Given the description of an element on the screen output the (x, y) to click on. 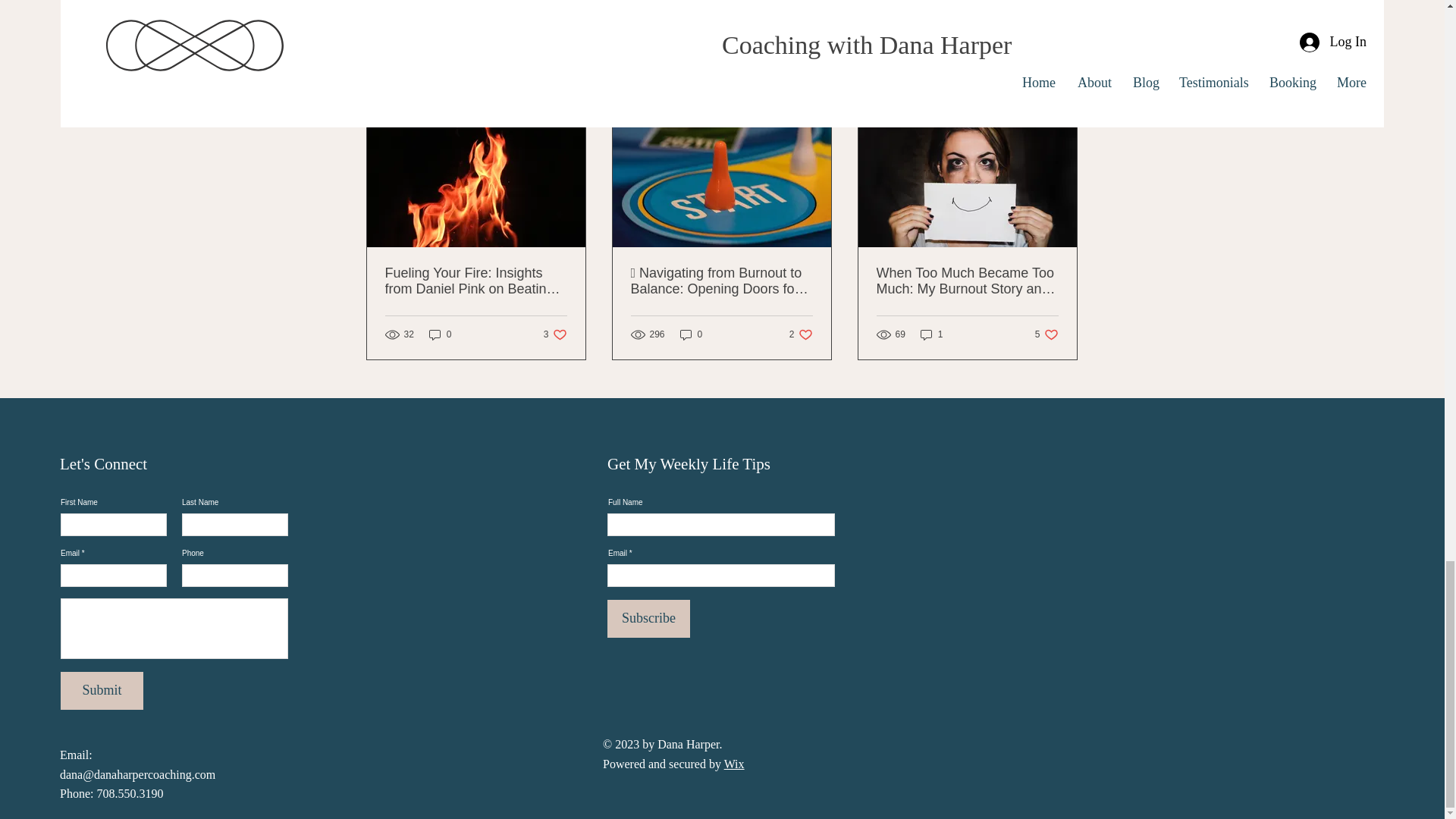
Subscribe (1046, 333)
Submit (648, 618)
0 (555, 333)
See All (101, 690)
1 (440, 333)
Wix (800, 333)
0 (1061, 97)
